Given the description of an element on the screen output the (x, y) to click on. 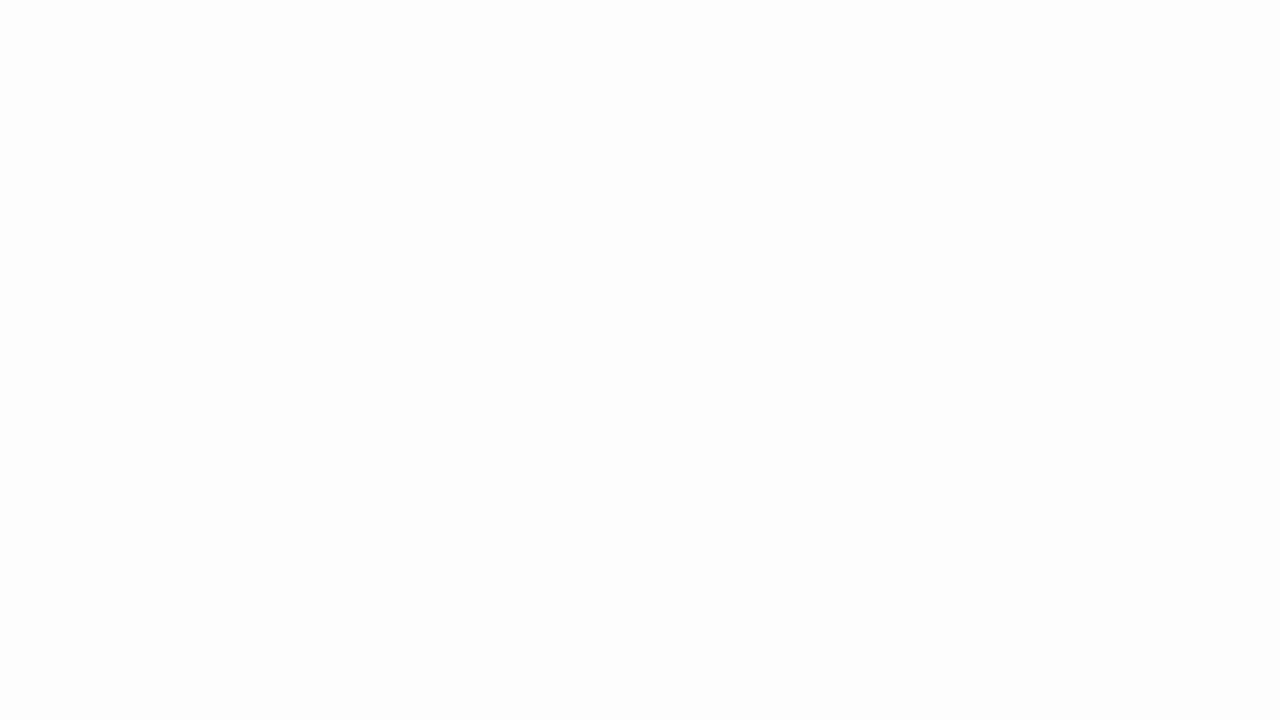
Clear (483, 124)
